Given the description of an element on the screen output the (x, y) to click on. 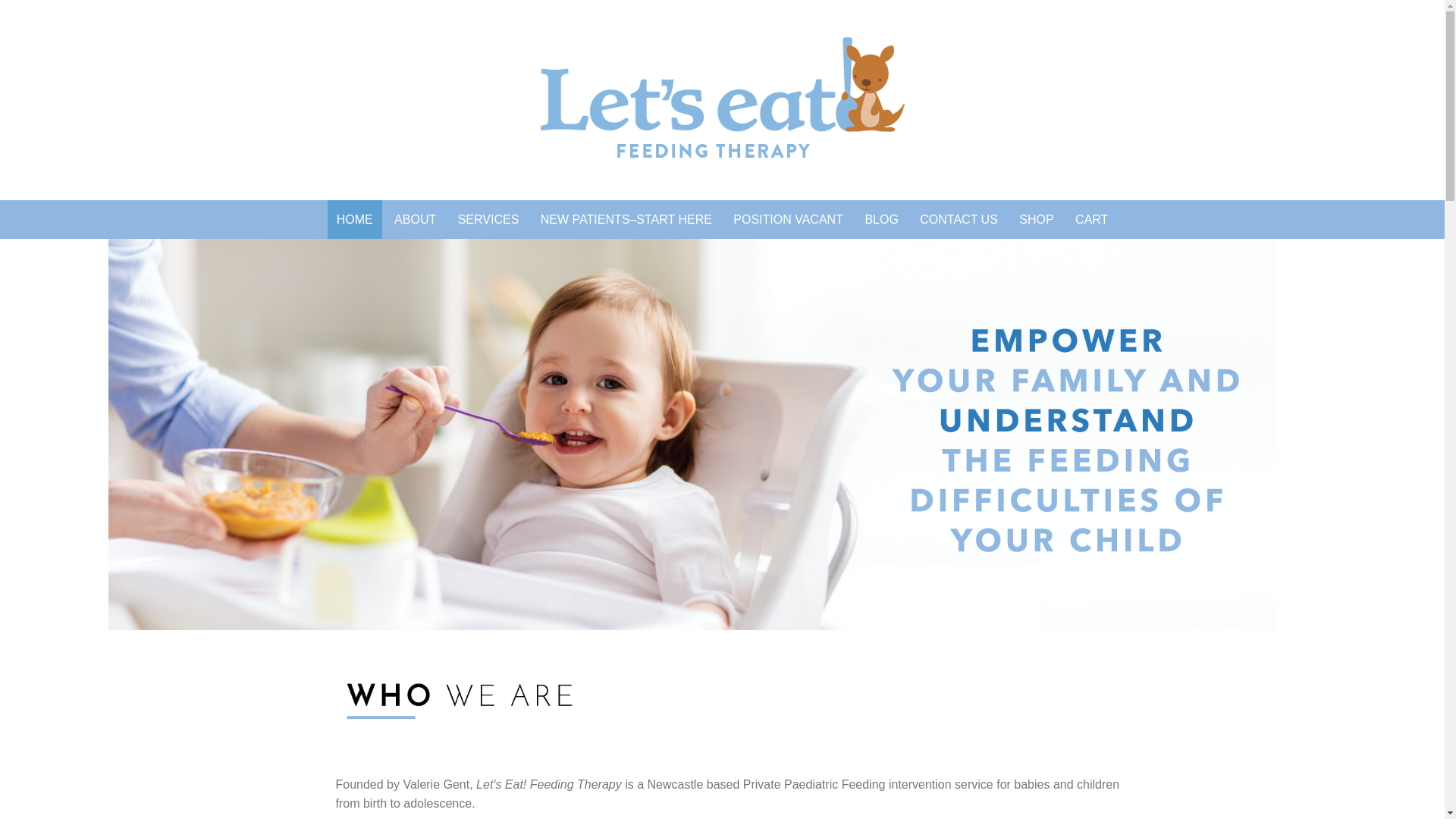
ABOUT Element type: text (415, 219)
Let's Eat! Feeding Therapy Feeding Therapy Element type: hover (721, 96)
CART Element type: text (1091, 219)
LetsEat_Website_home header Element type: hover (691, 434)
LetsEat_Website_home part 1 copy-01 Element type: hover (737, 694)
POSITION VACANT Element type: text (788, 219)
BLOG Element type: text (880, 219)
HOME Element type: text (354, 219)
SERVICES Element type: text (488, 219)
SHOP Element type: text (1036, 219)
CONTACT US Element type: text (958, 219)
Skip to content Element type: text (274, 199)
